Given the description of an element on the screen output the (x, y) to click on. 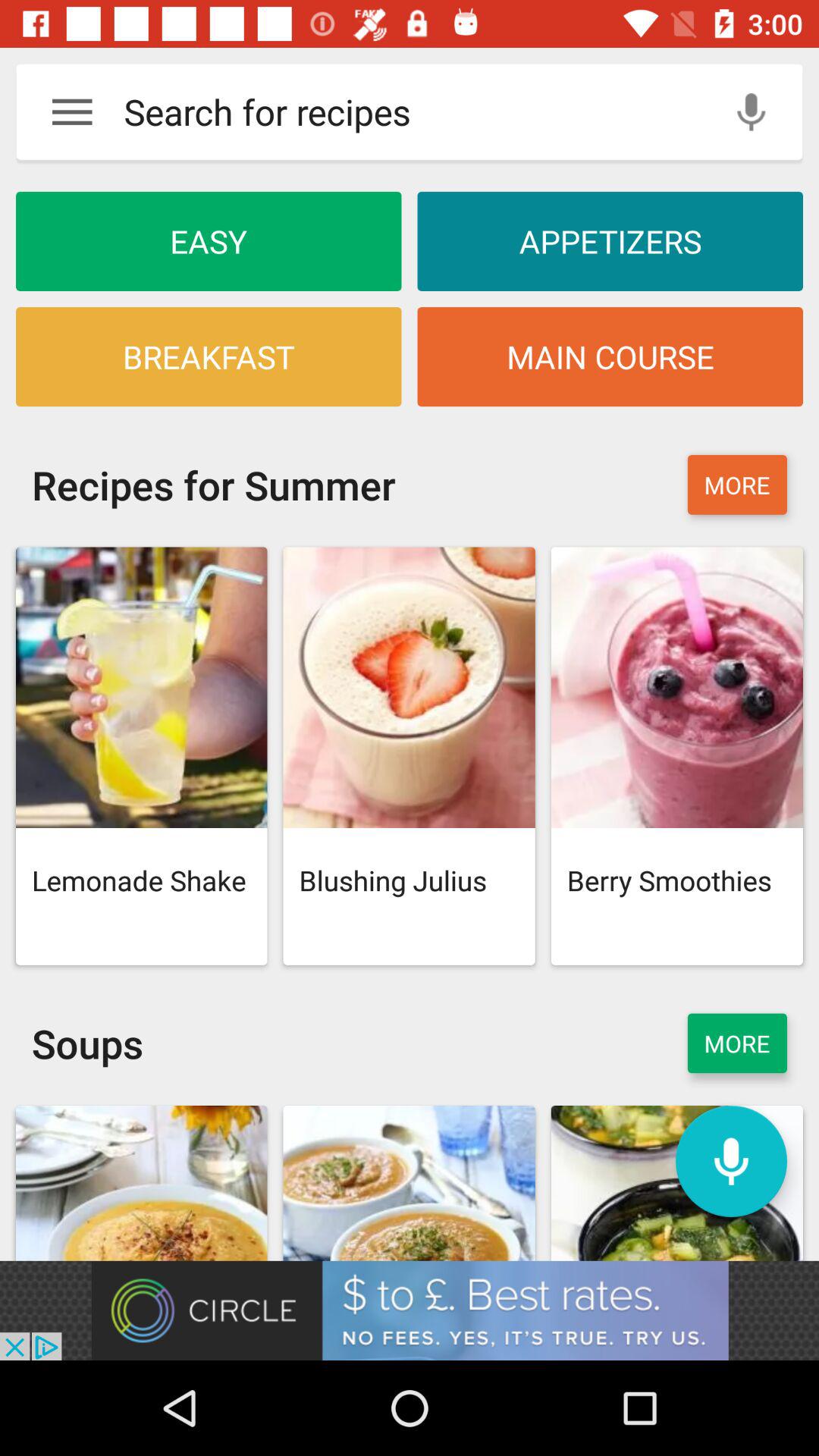
mike for searching (731, 1161)
